Given the description of an element on the screen output the (x, y) to click on. 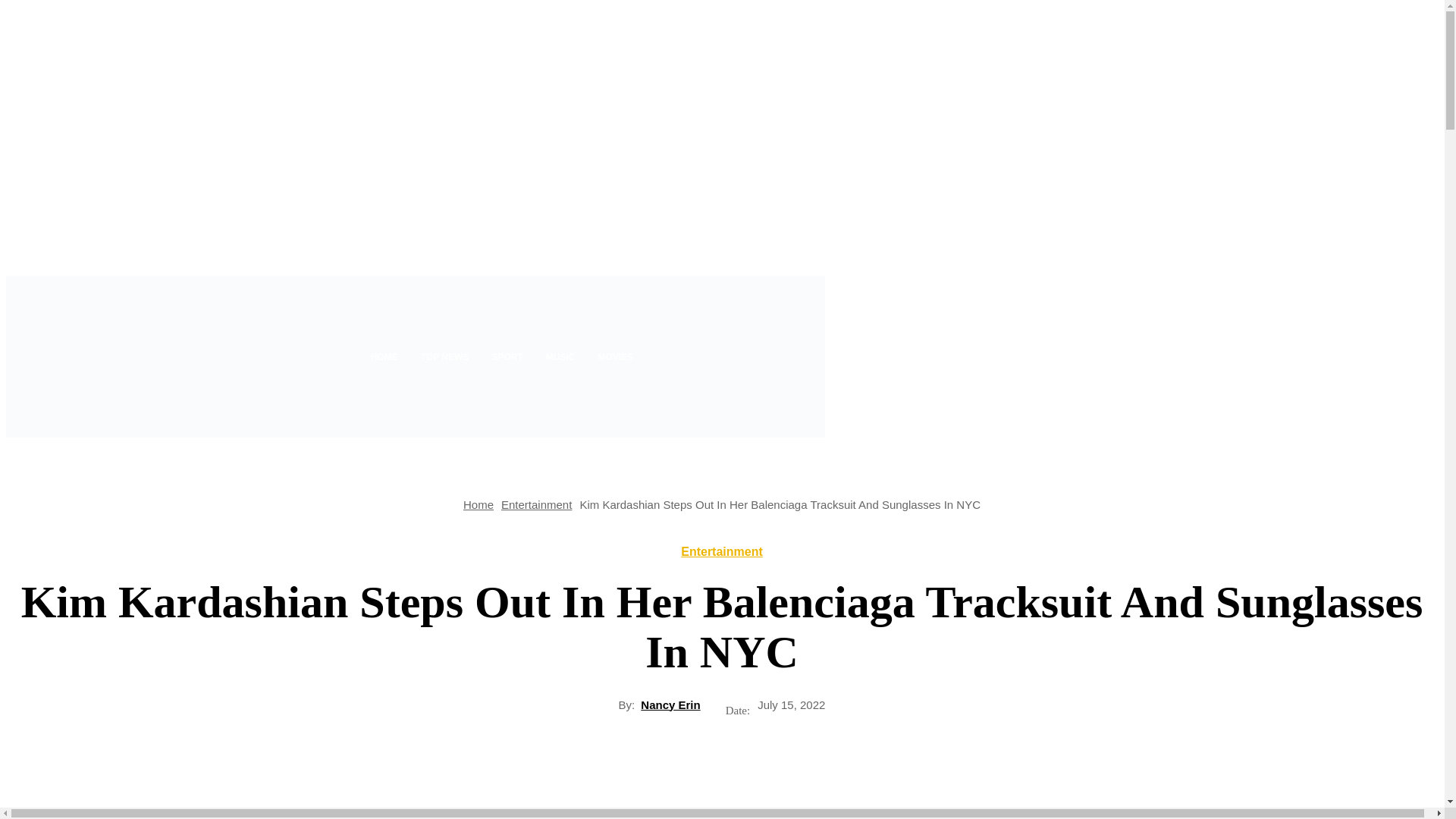
Entertainment (536, 504)
SPORT (507, 356)
View all posts in Entertainment (536, 504)
Nancy Erin (670, 704)
Home (478, 504)
HOME (384, 356)
MOVIES (615, 356)
Entertainment (721, 551)
MUSIC (560, 356)
TOP NEWS (444, 356)
